Given the description of an element on the screen output the (x, y) to click on. 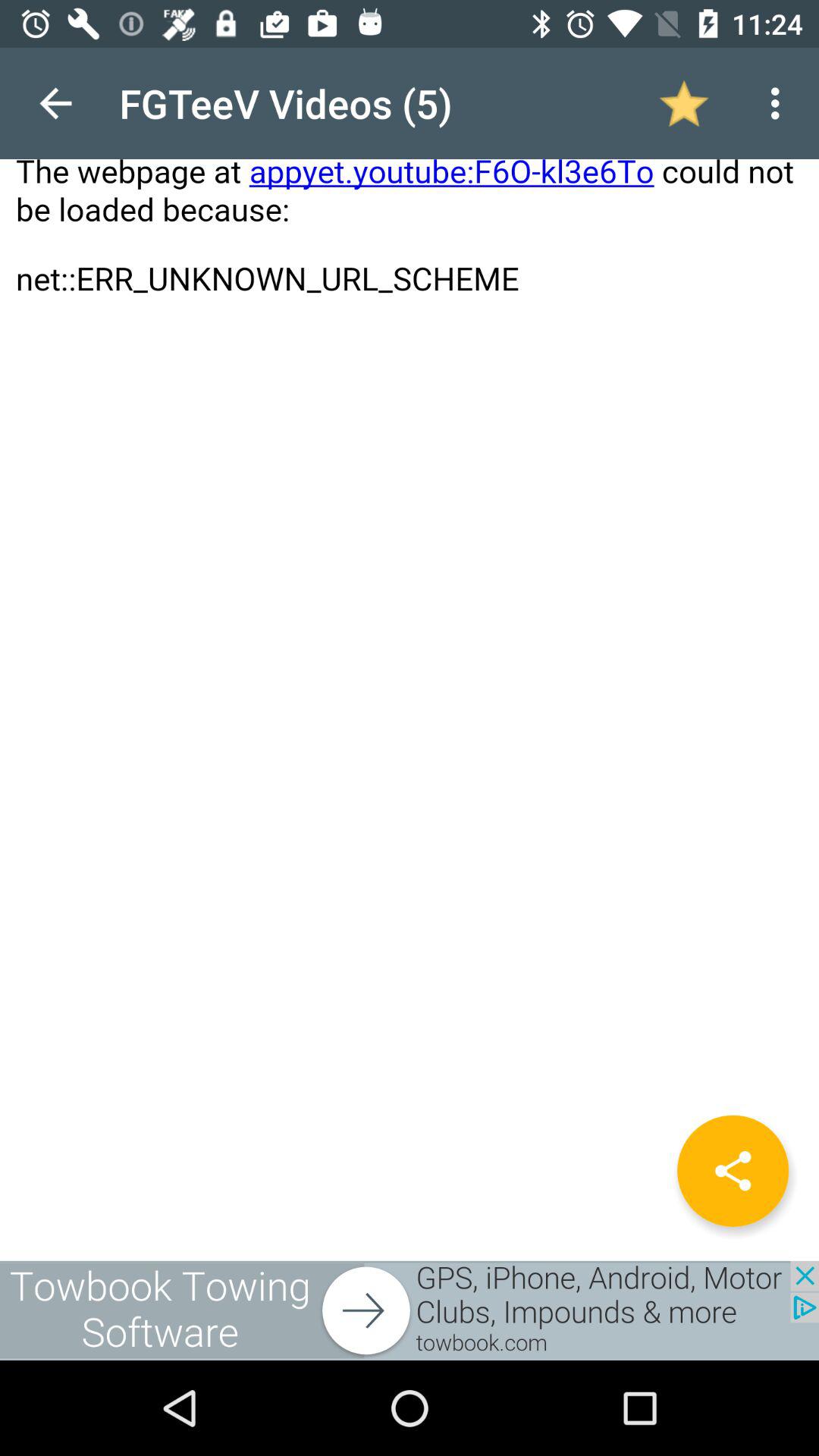
toggle network (733, 1171)
